Given the description of an element on the screen output the (x, y) to click on. 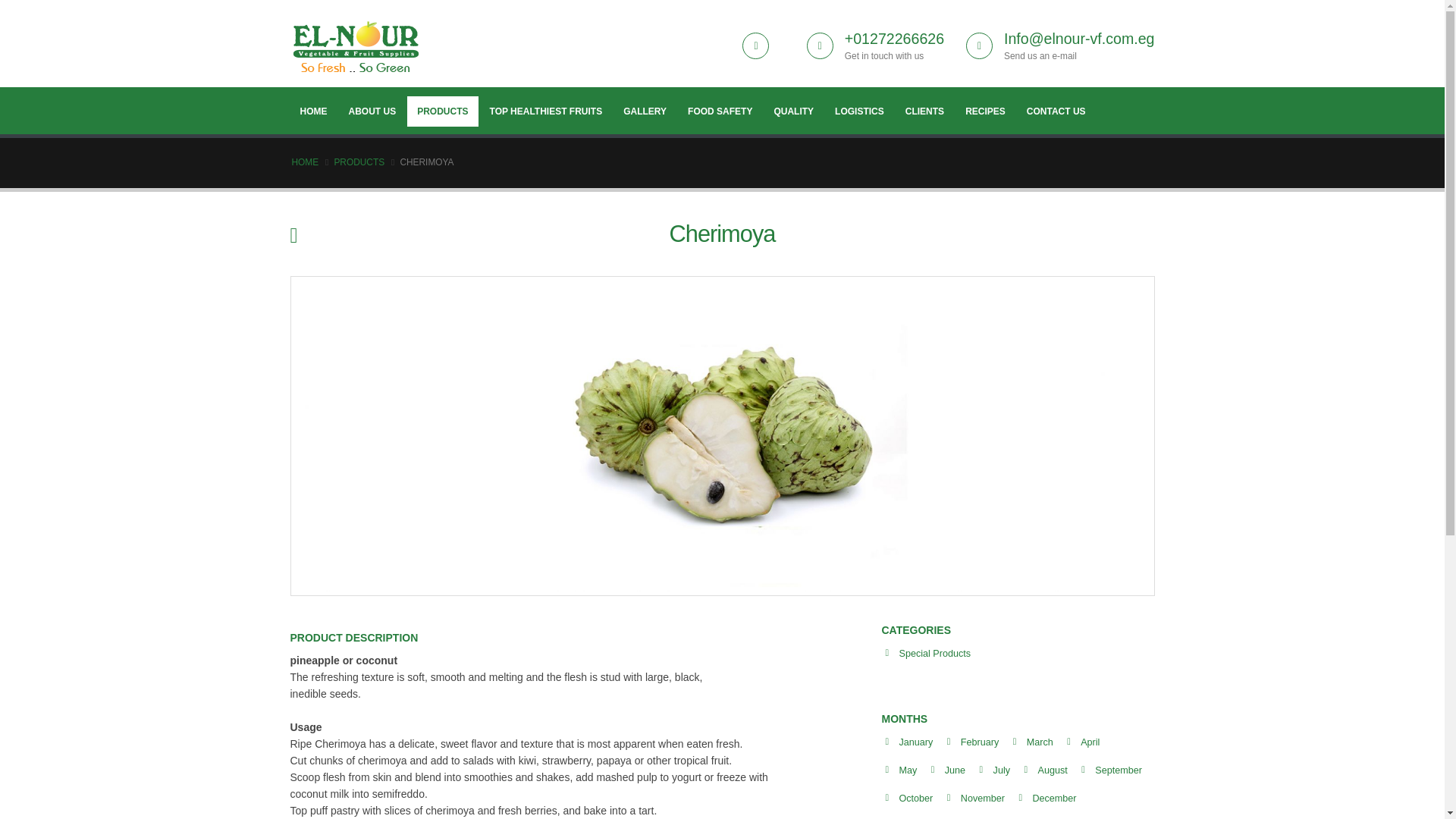
TOP HEALTHIEST FRUITS (546, 111)
May (908, 769)
PRODUCTS (442, 111)
GALLERY (644, 111)
October (916, 798)
March (1039, 742)
September (1117, 769)
February (979, 742)
August (1052, 769)
CONTACT US (1056, 111)
December (1053, 798)
HOME (312, 111)
PRODUCTS (358, 162)
RECIPES (984, 111)
FOOD SAFETY (719, 111)
